Given the description of an element on the screen output the (x, y) to click on. 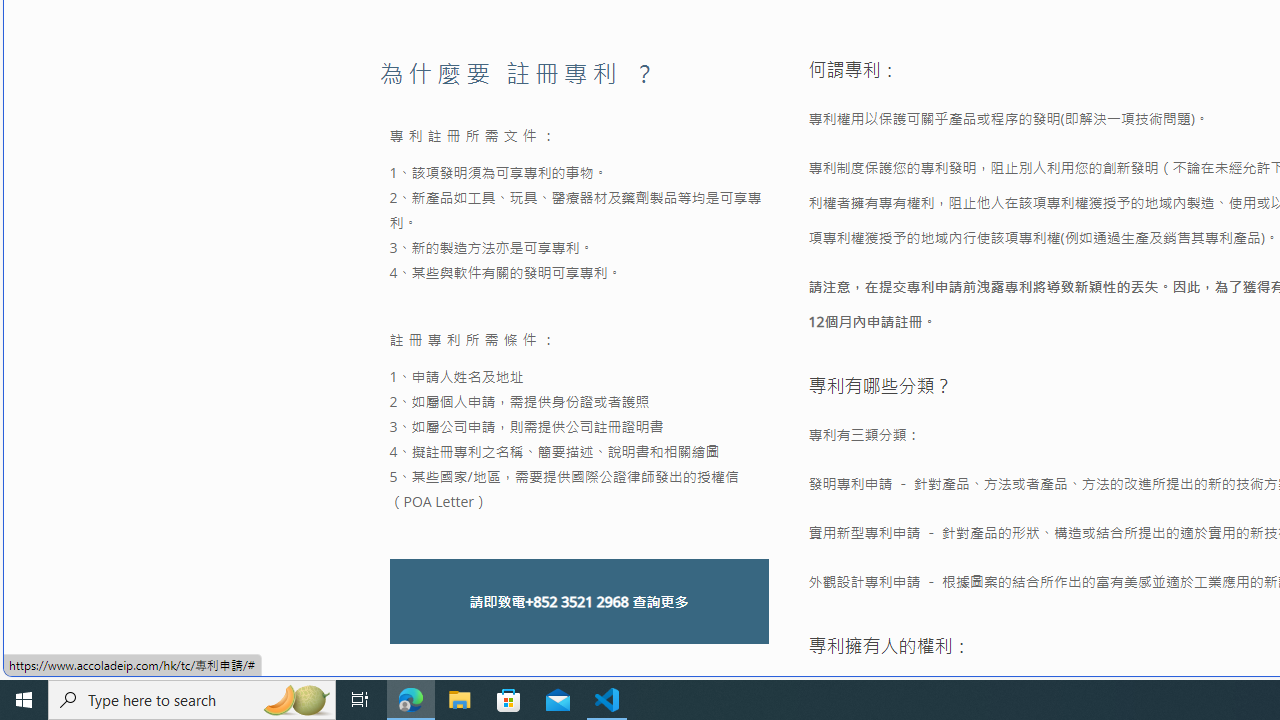
+852 3521 2968 (576, 601)
